Given the description of an element on the screen output the (x, y) to click on. 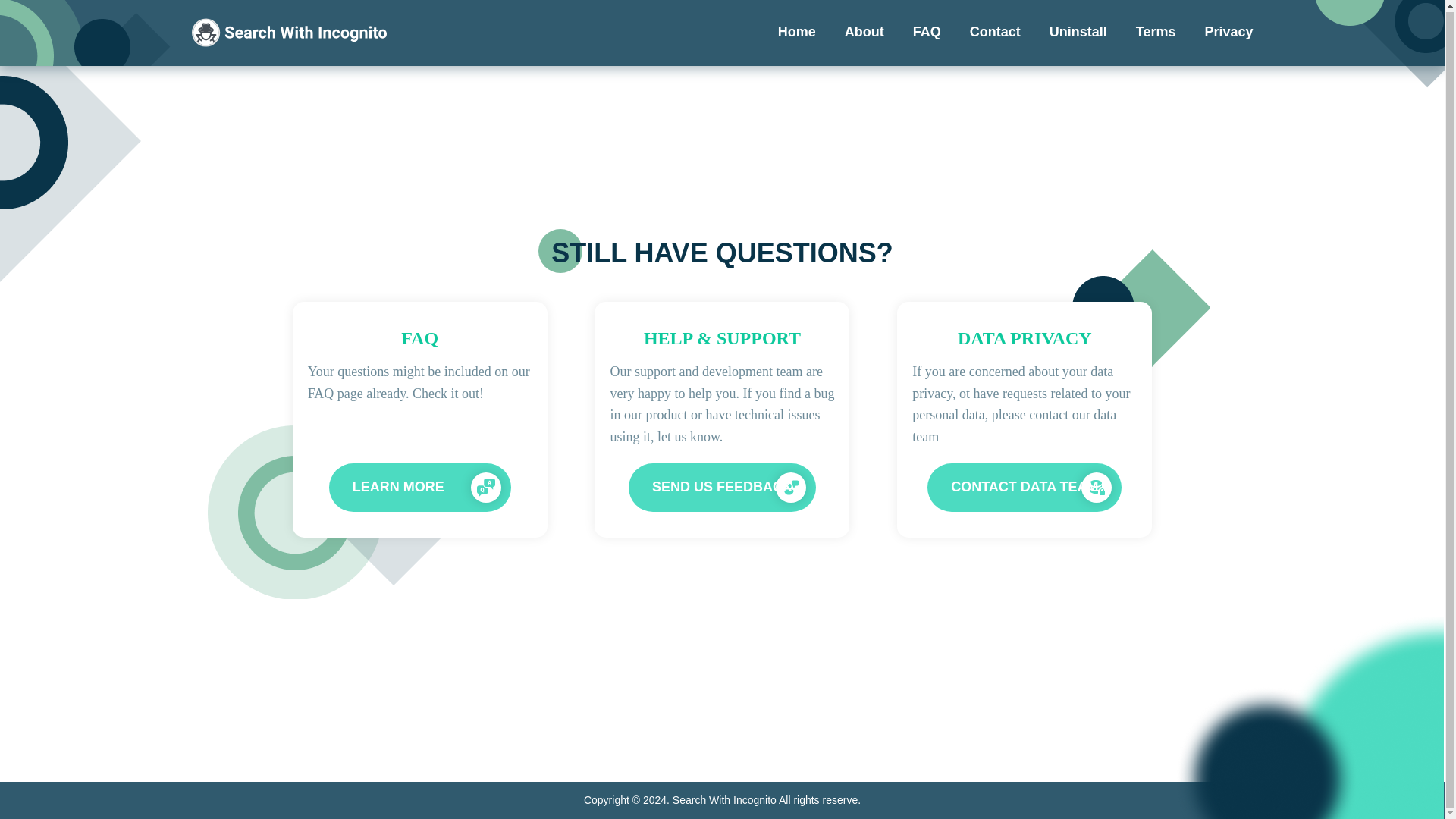
FAQ (926, 32)
Privacy (1228, 32)
Home (796, 32)
LEARN MORE (420, 487)
Uninstall (1077, 32)
SEND US FEEDBACK (721, 487)
Contact (994, 32)
About (863, 32)
Terms (1155, 32)
CONTACT DATA TEAM (1024, 487)
